Given the description of an element on the screen output the (x, y) to click on. 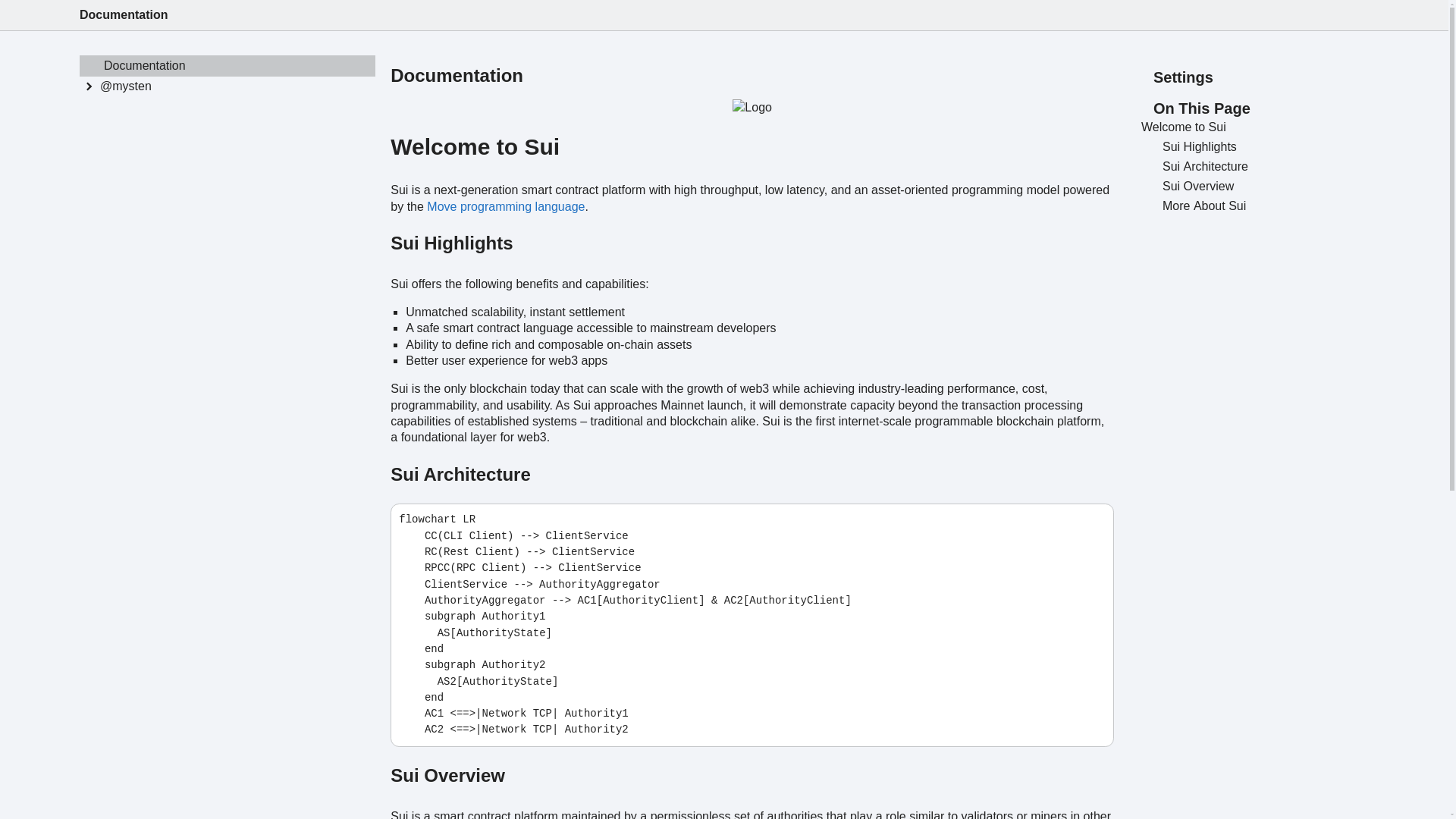
Sui Architecture (1261, 166)
Welcome to Sui (1251, 127)
Sui Overview (1261, 186)
Move programming language (505, 205)
Documentation (227, 65)
Sui Highlights (1261, 147)
Documentation (123, 14)
More About Sui (1261, 206)
